Given the description of an element on the screen output the (x, y) to click on. 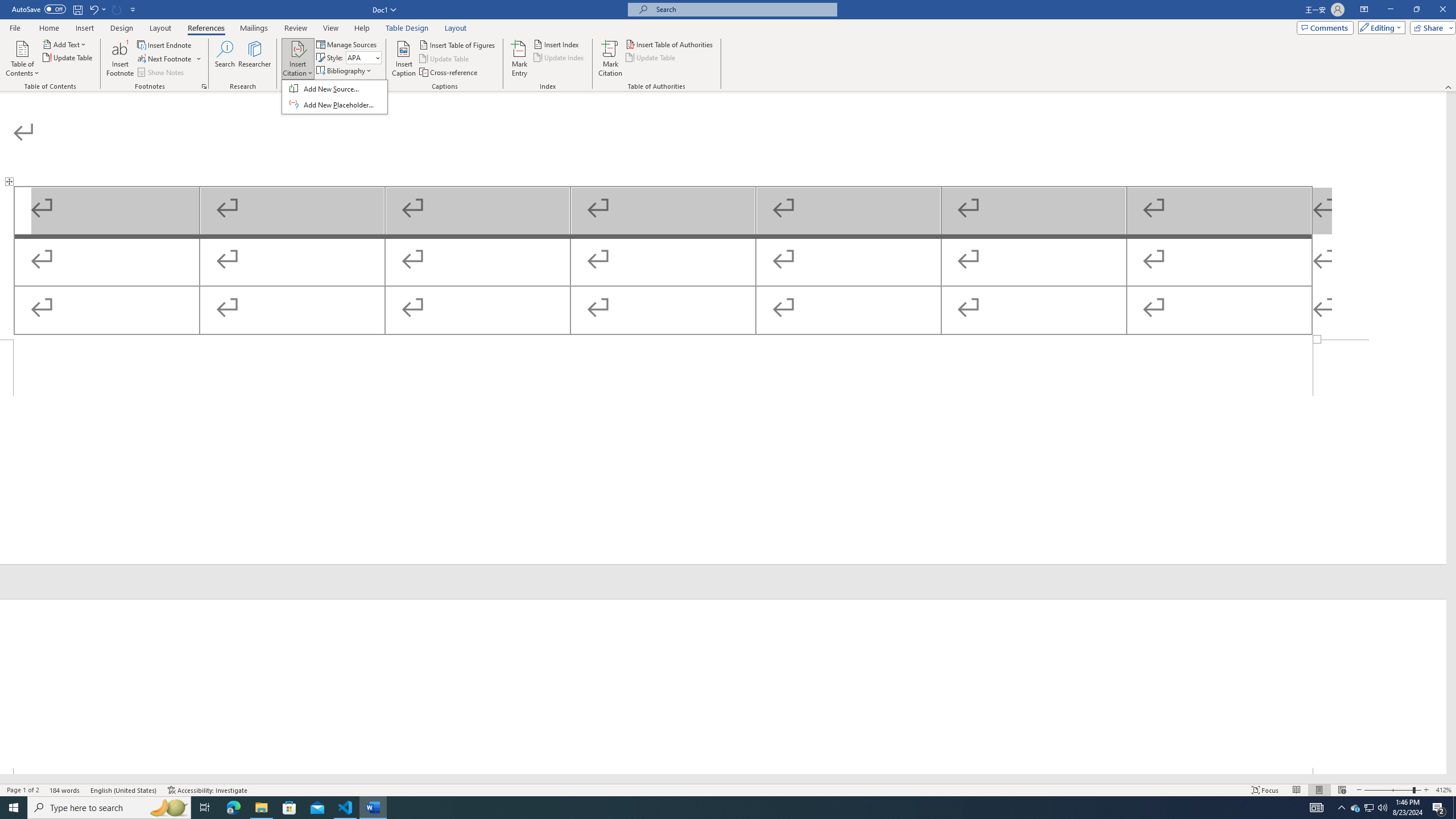
Microsoft Store (289, 807)
Can't Repeat (117, 9)
Update Table (651, 56)
Microsoft search (742, 9)
Insert Table of Figures... (458, 44)
Class: NetUIScrollBar (722, 778)
Bibliography (344, 69)
Table Design (407, 28)
Task View (204, 807)
Style (363, 56)
Type here to search (108, 807)
Show desktop (1454, 807)
